Given the description of an element on the screen output the (x, y) to click on. 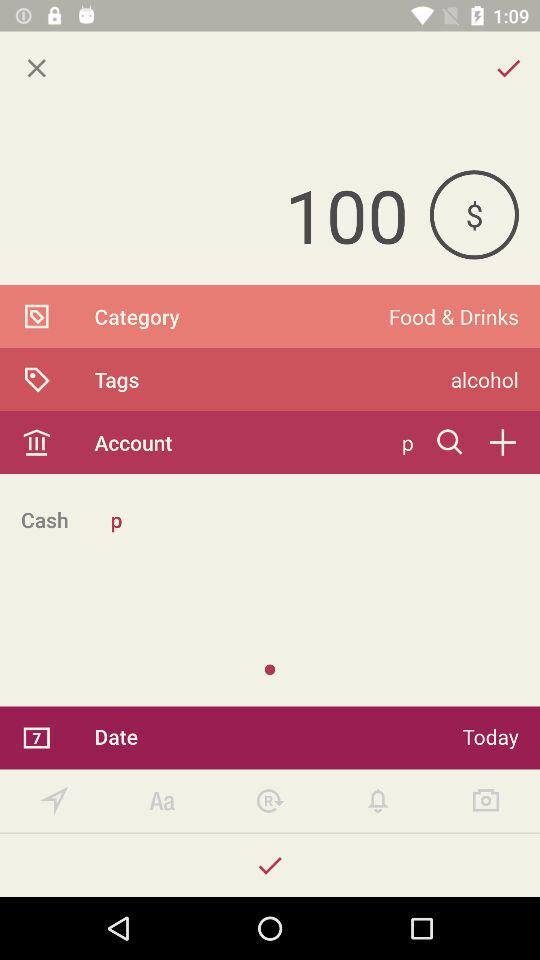
add bank account (502, 442)
